Given the description of an element on the screen output the (x, y) to click on. 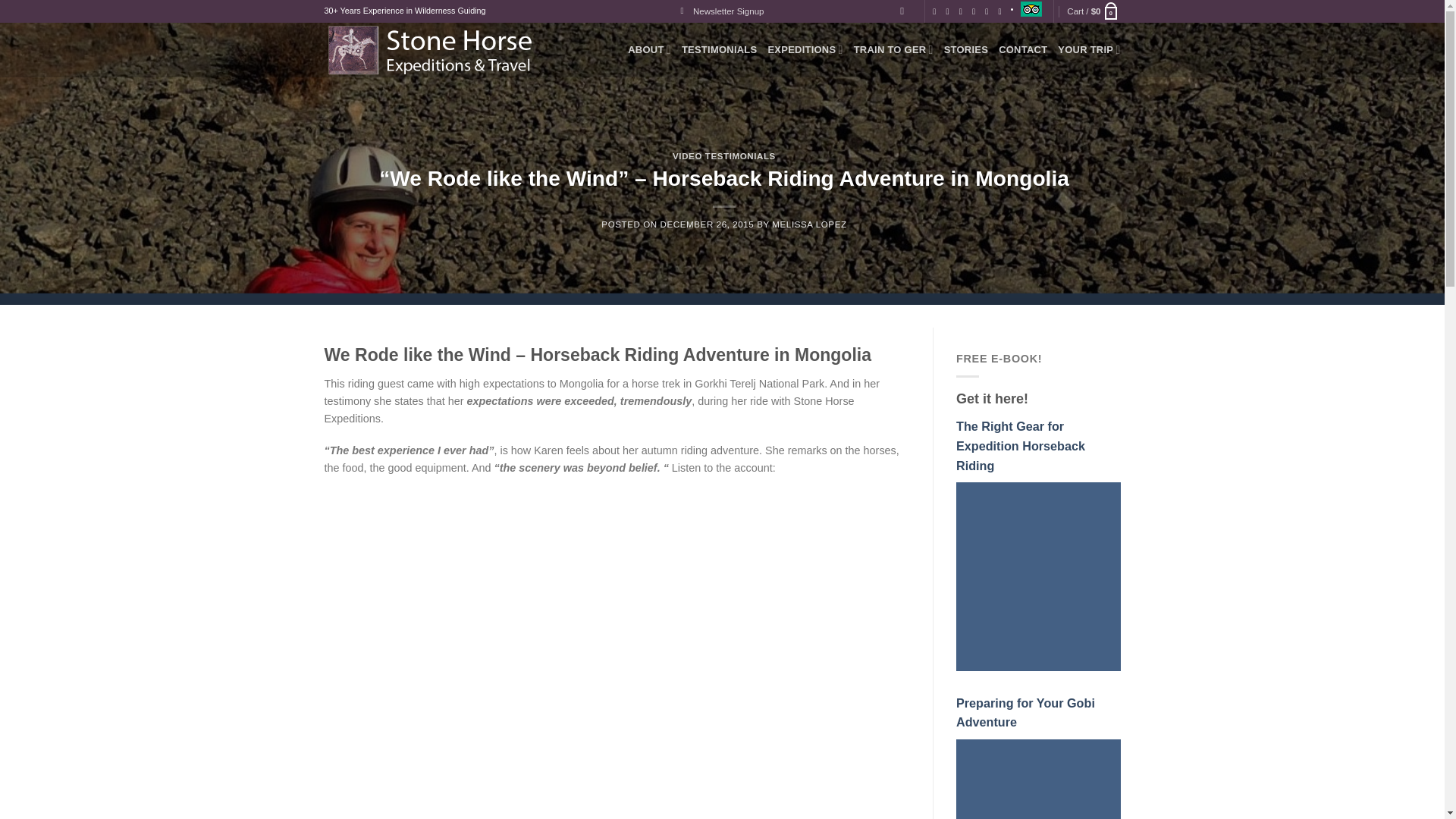
TESTIMONIALS (719, 49)
Send us an email (963, 10)
Follow on Facebook (936, 10)
About Horse Riding in Mongolia (649, 49)
Sign up for Newsletter (722, 11)
Call us (975, 10)
Follow on Instagram (950, 10)
ABOUT (649, 49)
Newsletter Signup (722, 11)
Follow on YouTube (1002, 10)
